Given the description of an element on the screen output the (x, y) to click on. 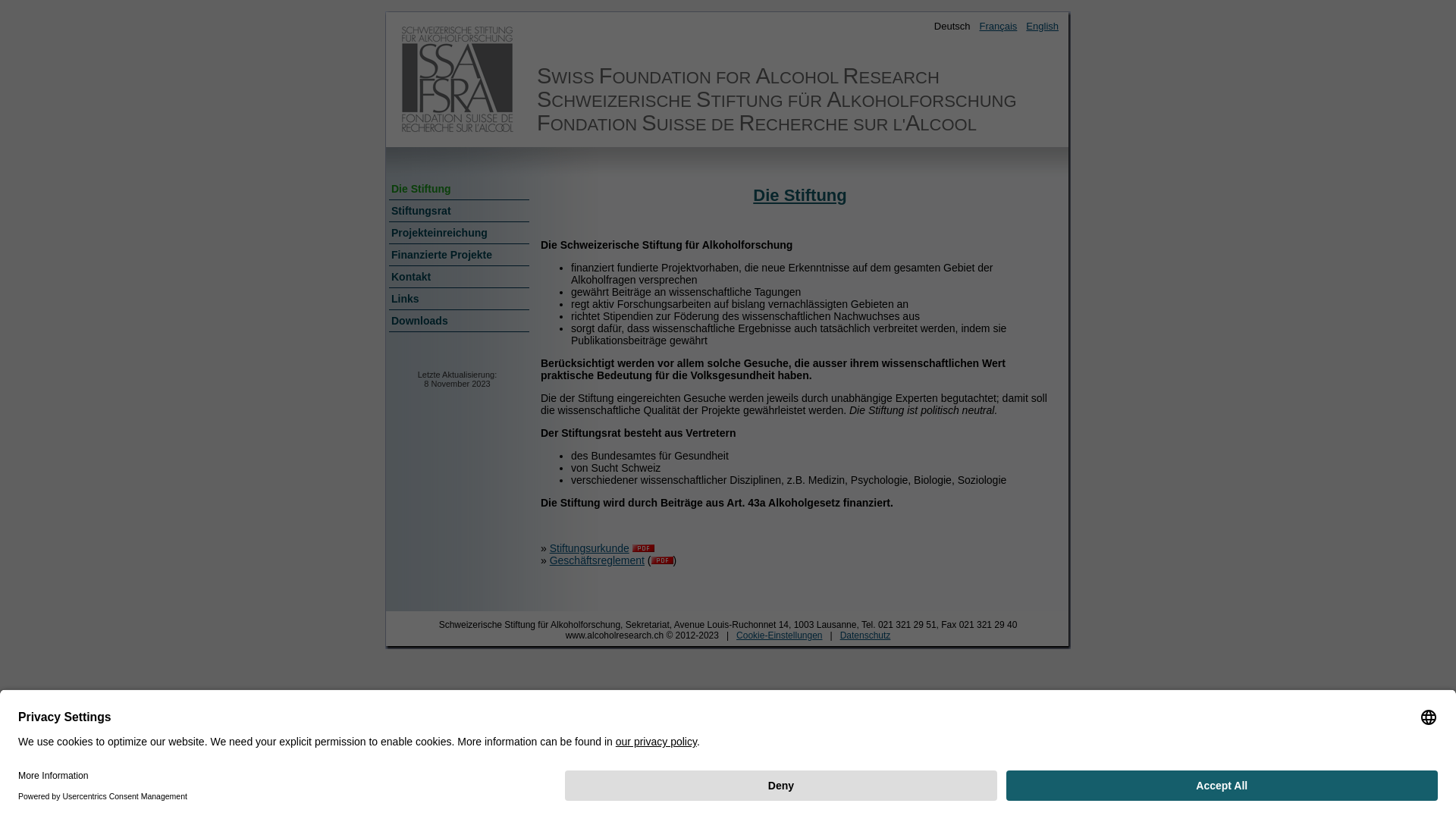
English Element type: text (1042, 25)
Stiftungsurkunde Element type: text (589, 548)
Die Stiftung Element type: text (458, 187)
Projekteinreichung Element type: text (458, 231)
Stiftungsrat Element type: text (458, 209)
Datenschutz Element type: text (865, 635)
Cookie-Einstellungen Element type: text (779, 635)
Links Element type: text (458, 297)
Downloads Element type: text (458, 319)
Kontakt Element type: text (458, 275)
Finanzierte Projekte Element type: text (458, 253)
